Given the description of an element on the screen output the (x, y) to click on. 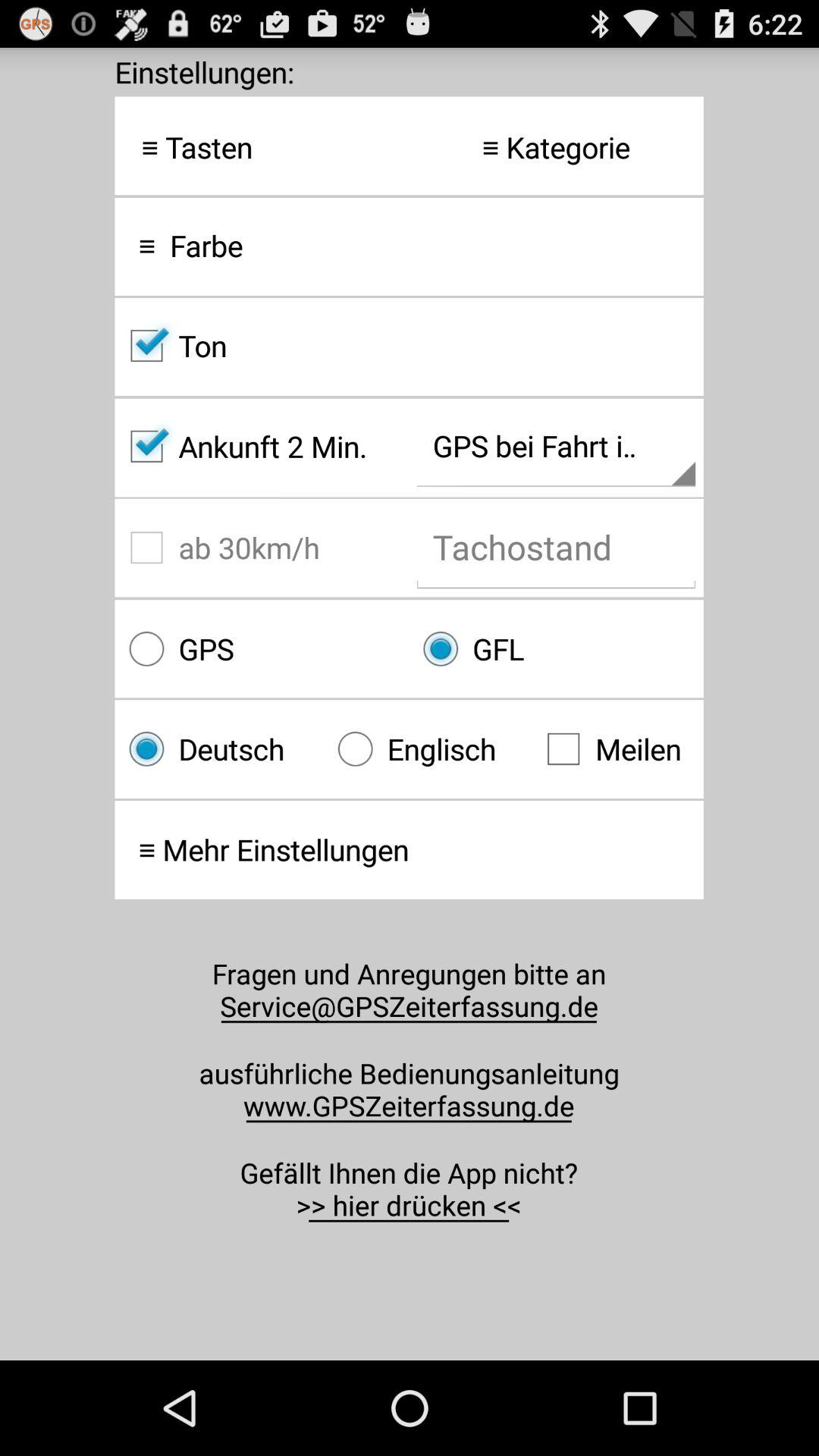
turn off icon at the top right corner (556, 147)
